Given the description of an element on the screen output the (x, y) to click on. 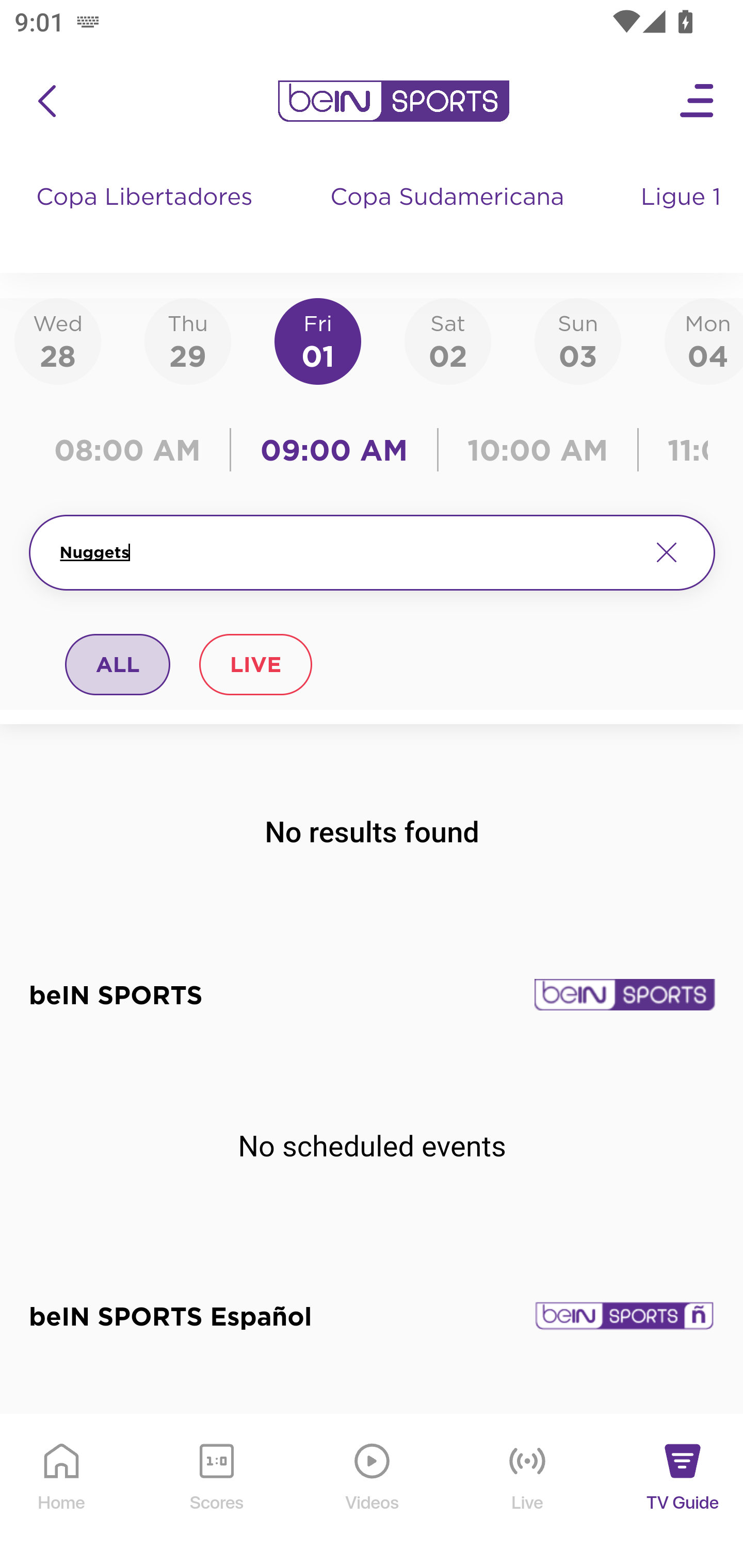
en-us?platform=mobile_android bein logo (392, 101)
icon back (46, 101)
Open Menu Icon (697, 101)
Copa Libertadores (146, 216)
Copa Sudamericana (448, 216)
Ligue 1 (682, 216)
Wed28 (58, 340)
Thu29 (187, 340)
Fri01 (318, 340)
Sat02 (447, 340)
Sun03 (578, 340)
Mon04 (703, 340)
08:00 AM (134, 449)
09:00 AM (334, 449)
10:00 AM (537, 449)
Nuggets (346, 552)
ALL (118, 663)
LIVE (255, 663)
Home Home Icon Home (61, 1491)
Scores Scores Icon Scores (216, 1491)
Videos Videos Icon Videos (372, 1491)
TV Guide TV Guide Icon TV Guide (682, 1491)
